Given the description of an element on the screen output the (x, y) to click on. 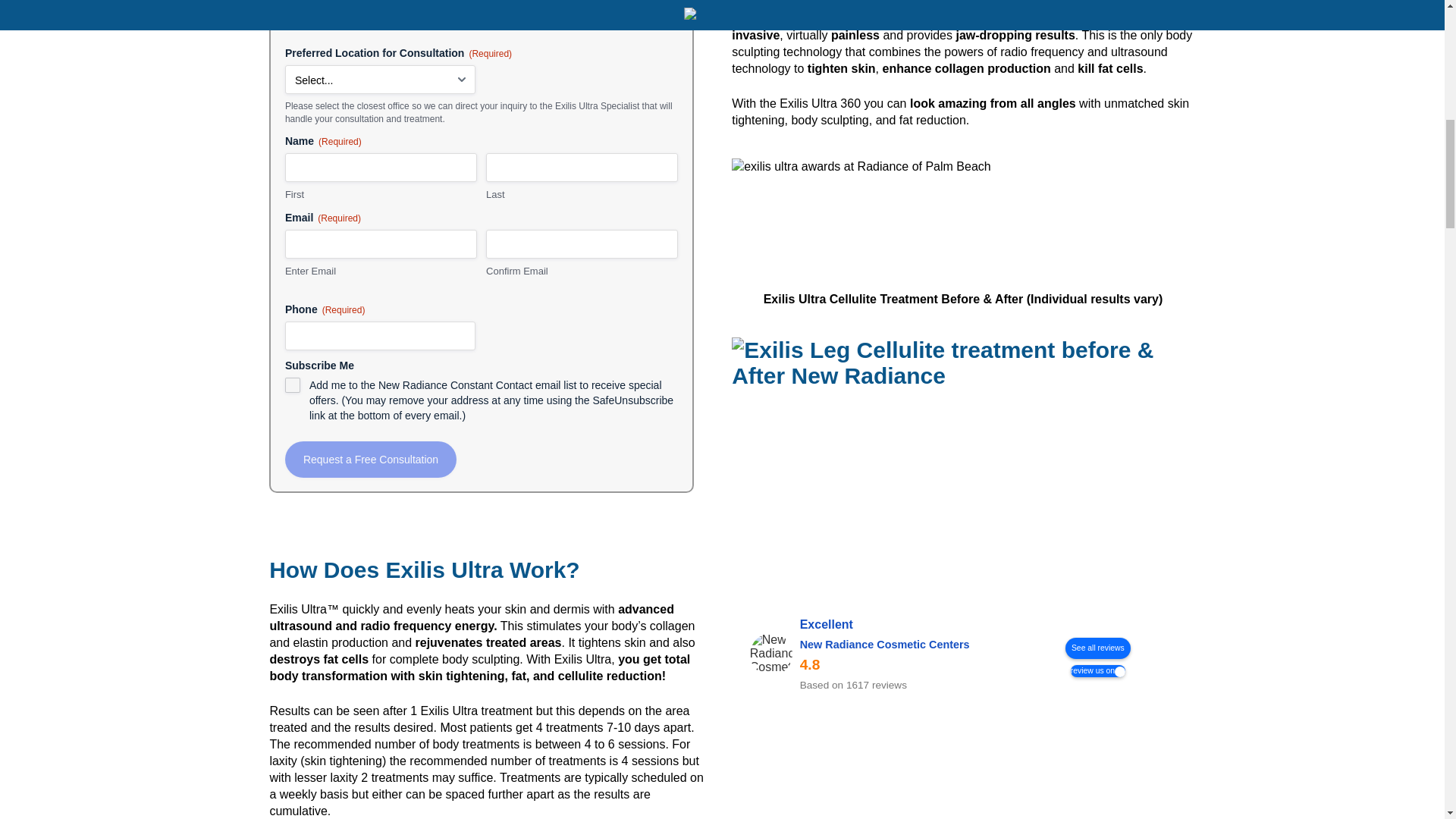
Request a Free Consultation (371, 459)
New Radiance Cosmetic Centers (770, 654)
1 (292, 385)
